Given the description of an element on the screen output the (x, y) to click on. 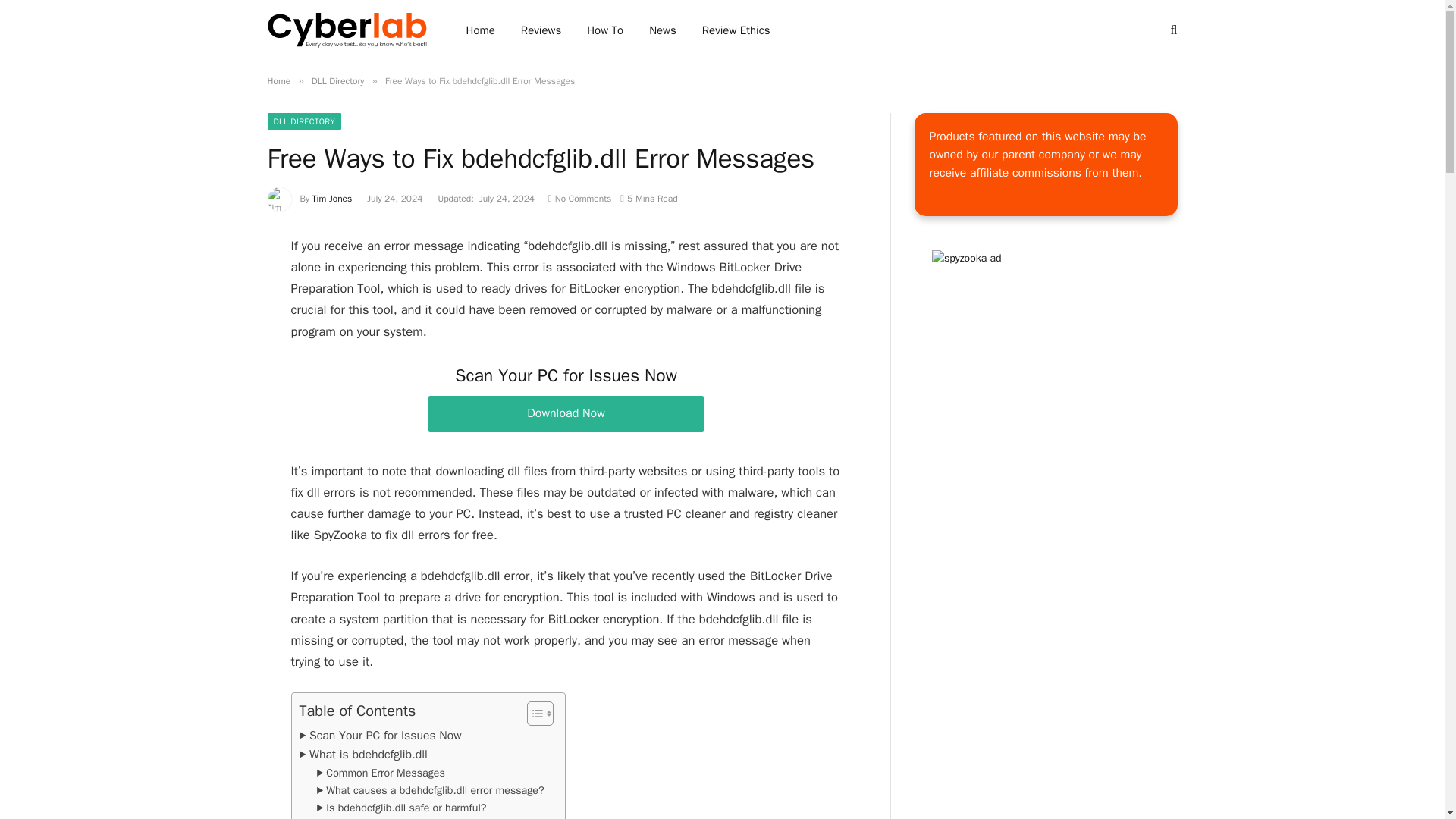
Home (277, 80)
Download Now (565, 413)
Common Error Messages (381, 773)
Tim Jones (332, 198)
Posts by Tim Jones (332, 198)
What is bdehdcfglib.dll (362, 754)
No Comments (579, 198)
DLL Directory (338, 80)
What is bdehdcfglib.dll (362, 754)
